Given the description of an element on the screen output the (x, y) to click on. 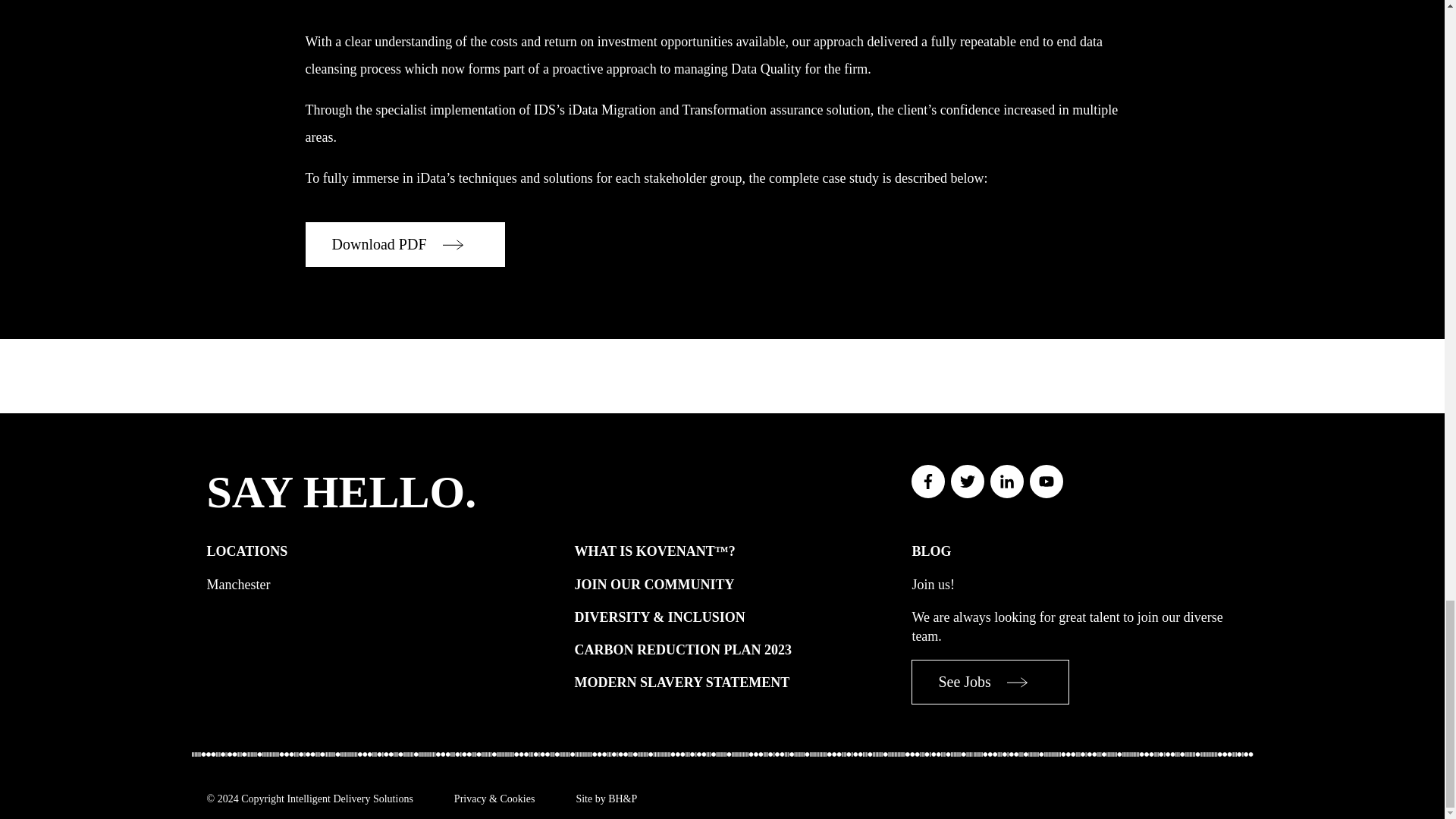
Download PDF (403, 243)
Manchester (237, 584)
